Given the description of an element on the screen output the (x, y) to click on. 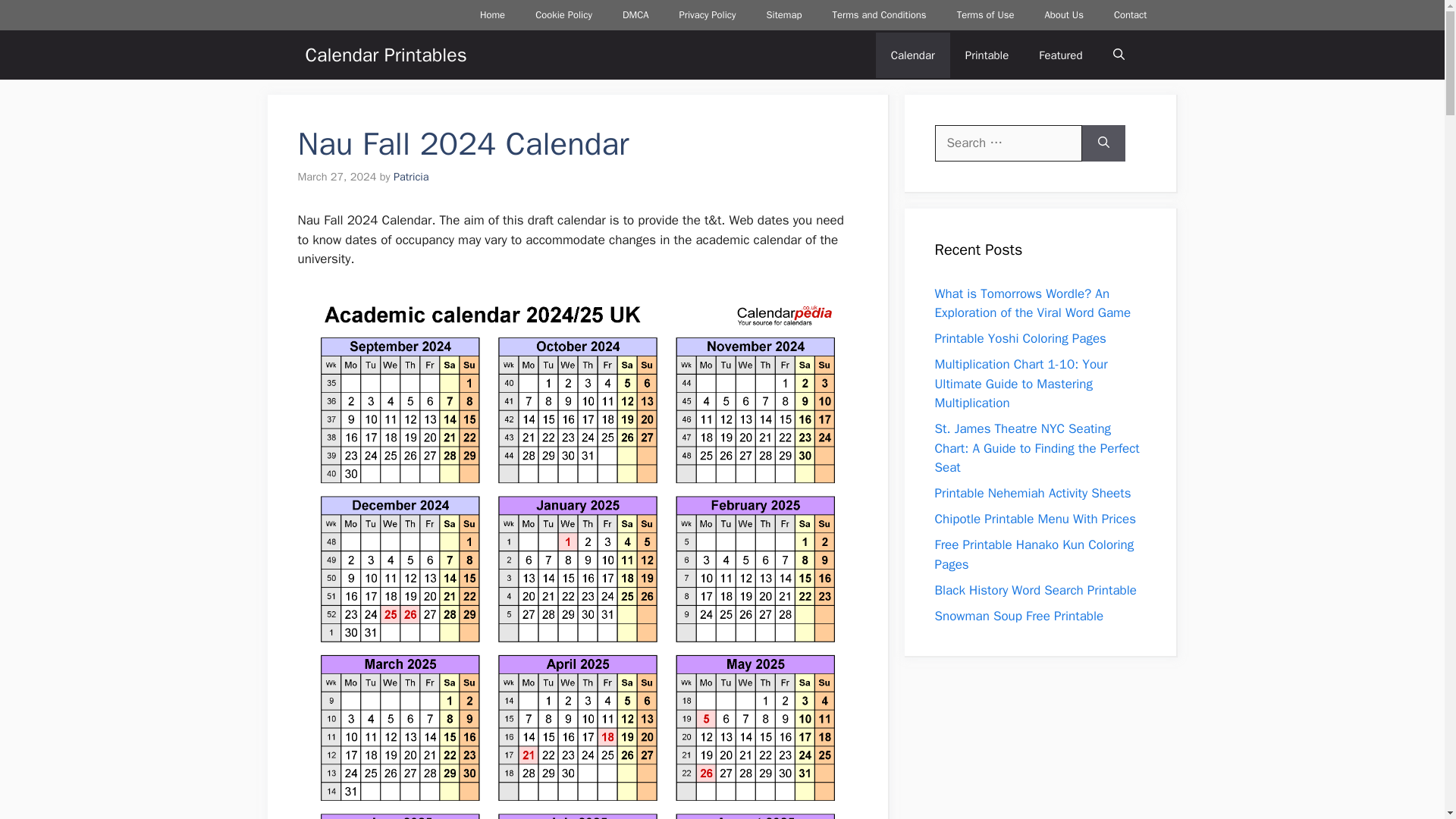
Featured (1060, 53)
Sitemap (783, 15)
Cookie Policy (563, 15)
Printable (987, 53)
View all posts by Patricia (411, 176)
Privacy Policy (707, 15)
Black History Word Search Printable (1035, 590)
Printable Nehemiah Activity Sheets (1032, 493)
Terms of Use (985, 15)
Chipotle Printable Menu With Prices (1034, 519)
Patricia (411, 176)
Free Printable Hanako Kun Coloring Pages (1034, 554)
Calendar Printables (384, 54)
